Given the description of an element on the screen output the (x, y) to click on. 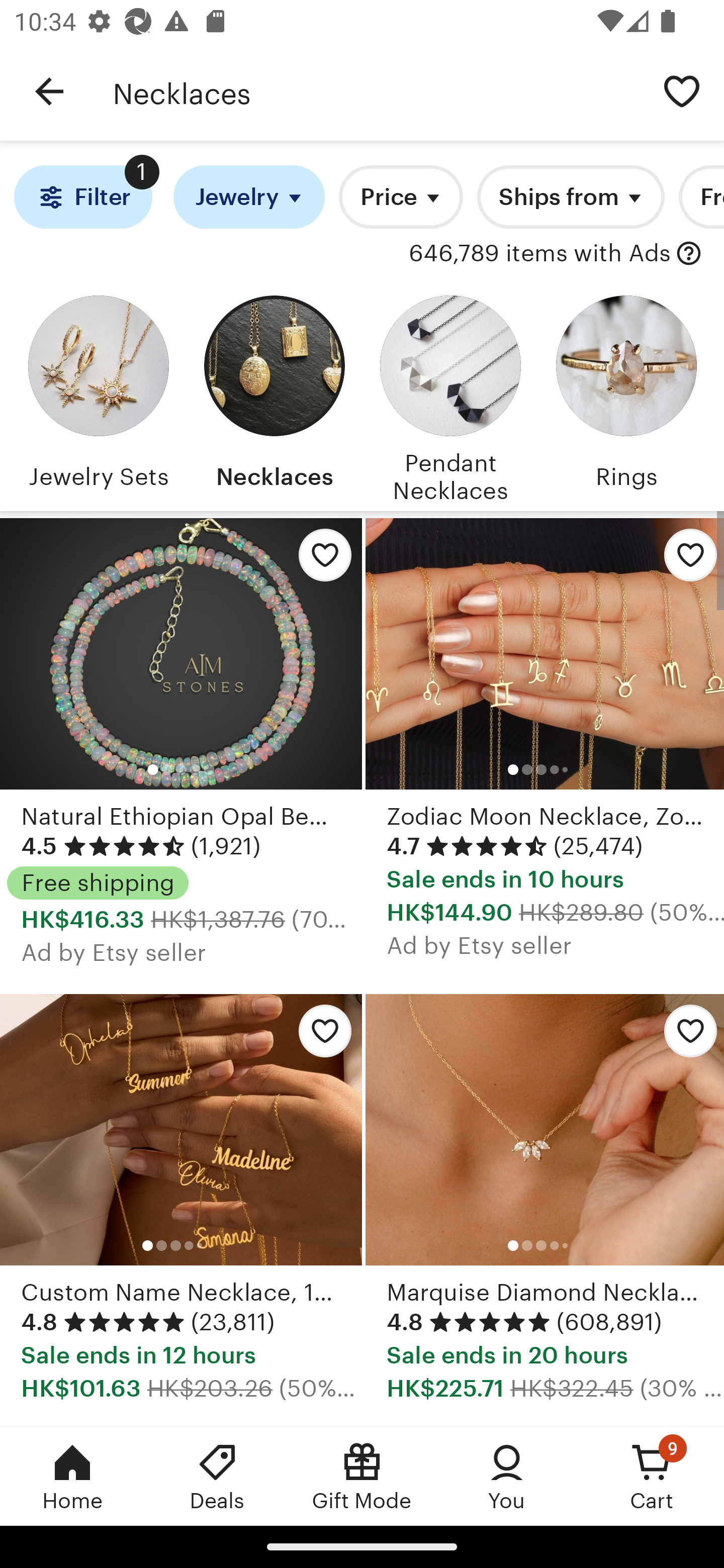
Navigate up (49, 91)
Save search (681, 90)
Necklaces (375, 91)
Filter (82, 197)
Jewelry (249, 197)
Price (400, 197)
Ships from (570, 197)
646,789 items with Ads (540, 253)
with Ads (688, 253)
Jewelry Sets (97, 395)
Necklaces (273, 395)
Pendant Necklaces (449, 395)
Rings (625, 395)
Deals (216, 1475)
Gift Mode (361, 1475)
You (506, 1475)
Cart, 9 new notifications Cart (651, 1475)
